Given the description of an element on the screen output the (x, y) to click on. 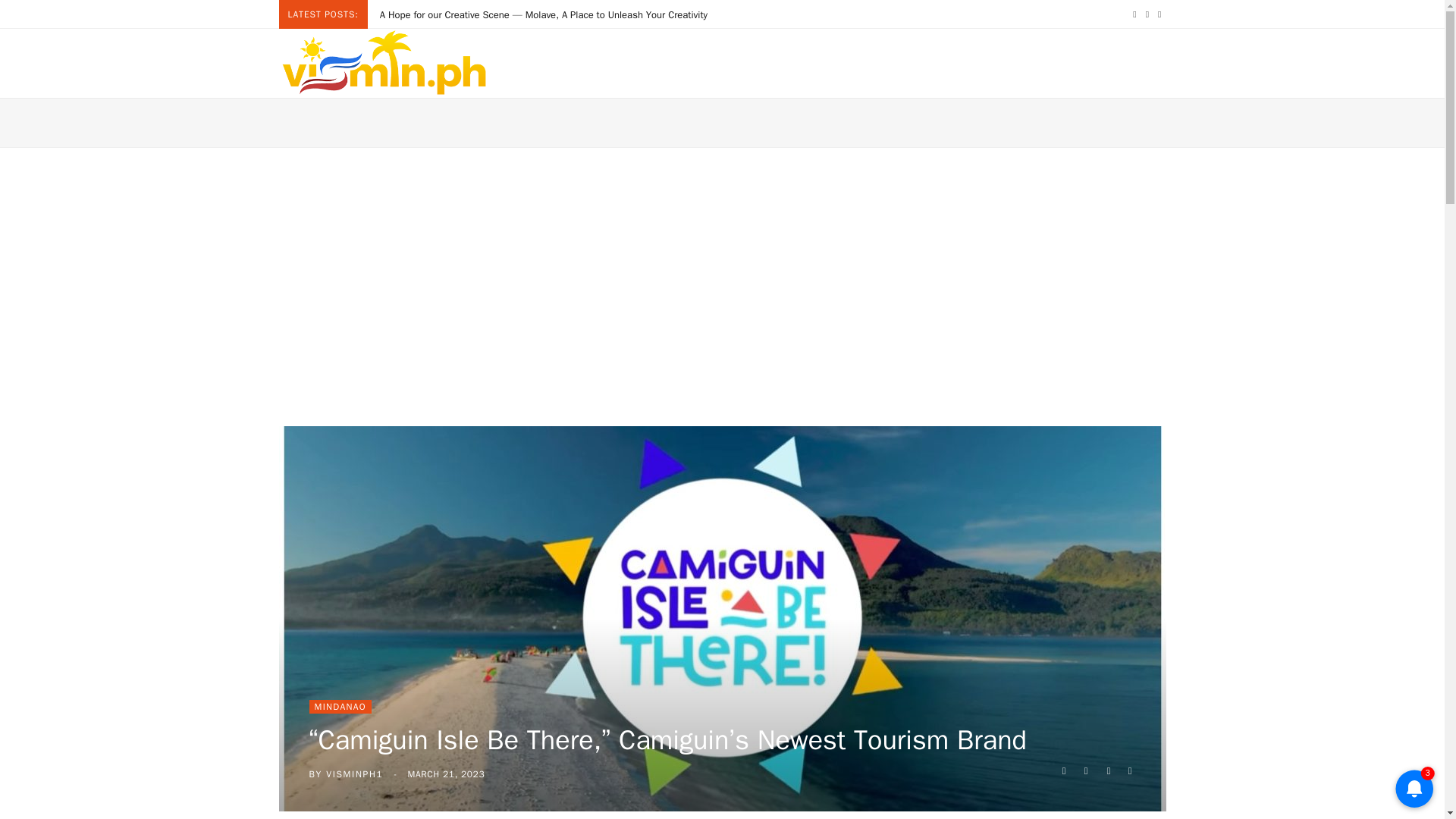
MINDANAO (340, 706)
VISMINPH1 (354, 774)
Share on Facebook (1063, 770)
Share on Twitter (1086, 770)
Posts by visminph1 (354, 774)
VisMin.ph (384, 62)
